Given the description of an element on the screen output the (x, y) to click on. 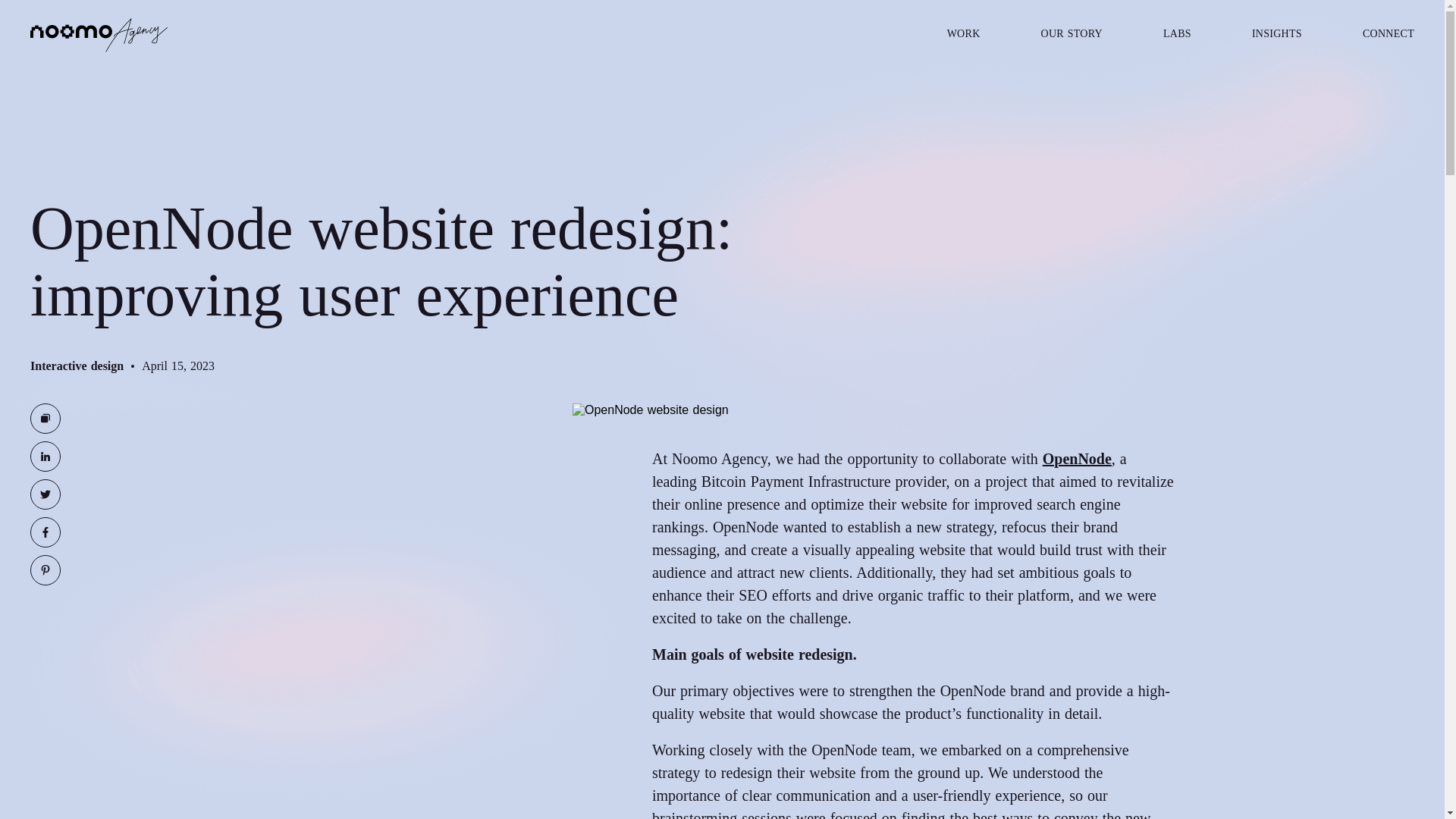
LABS (1177, 34)
INSIGHTS (1276, 34)
OpenNode (1077, 458)
OUR STORY (1071, 34)
CONNECT (1387, 34)
WORK (963, 34)
